Given the description of an element on the screen output the (x, y) to click on. 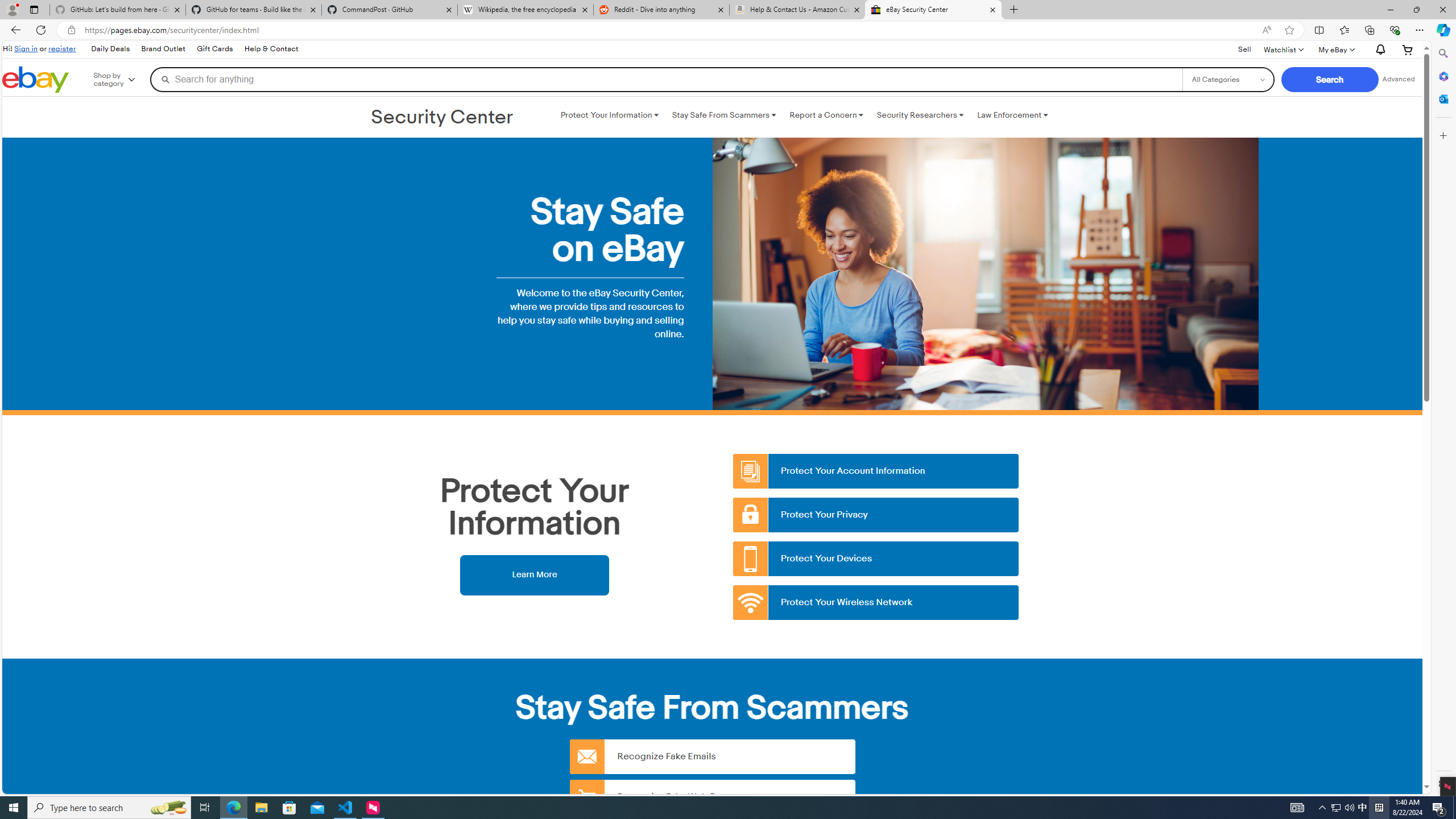
Security Center (442, 117)
Select a category for search (1228, 78)
Sign in (25, 48)
Learn More (534, 574)
Your shopping cart (1407, 49)
Watchlist (1282, 49)
Daily Deals (109, 49)
Security Researchers  (919, 115)
Recognize Fake Web Pages (712, 796)
Gift Cards (214, 49)
